Given the description of an element on the screen output the (x, y) to click on. 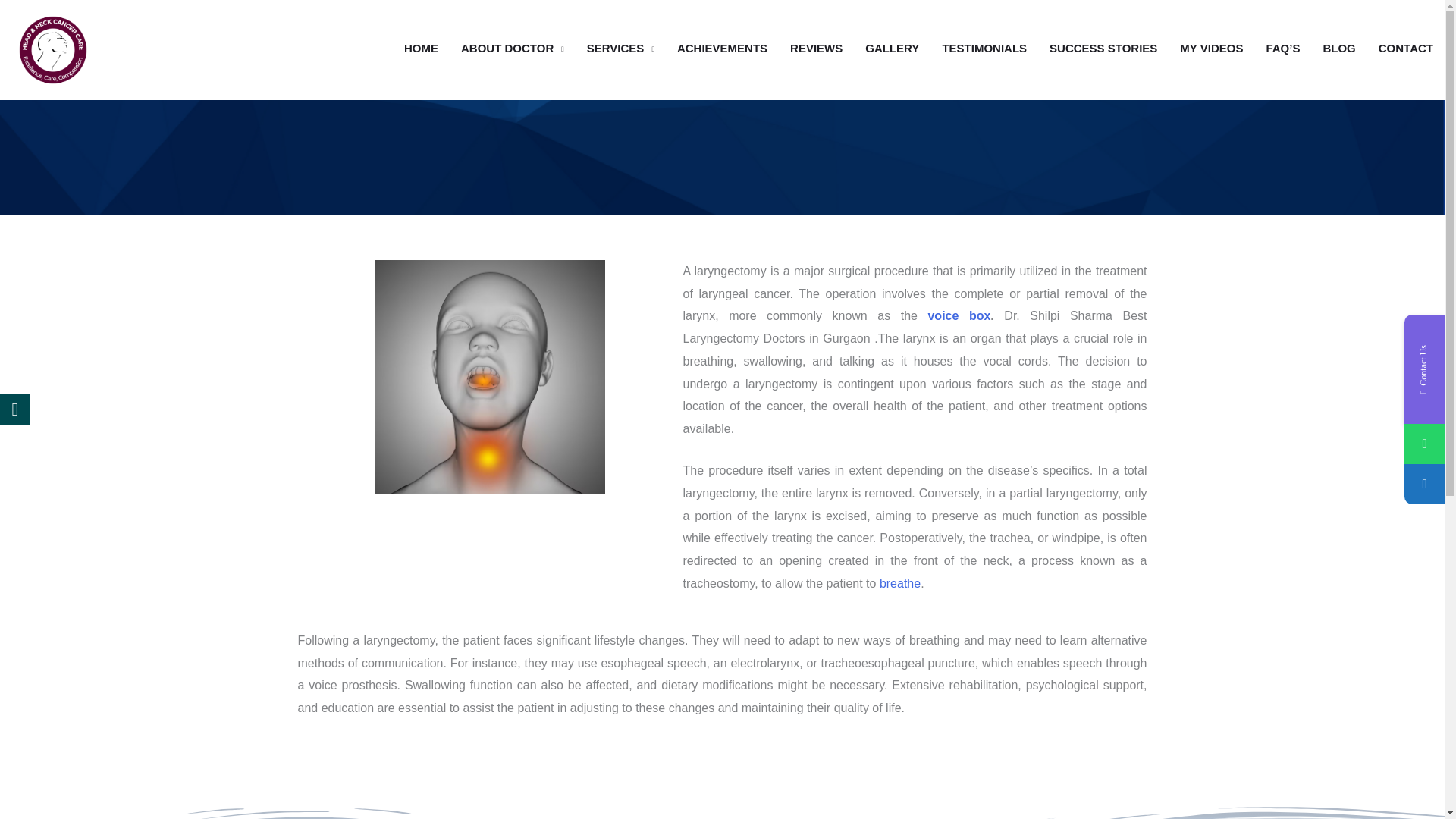
ABOUT DOCTOR (512, 48)
HOME (421, 48)
SERVICES (620, 48)
